Given the description of an element on the screen output the (x, y) to click on. 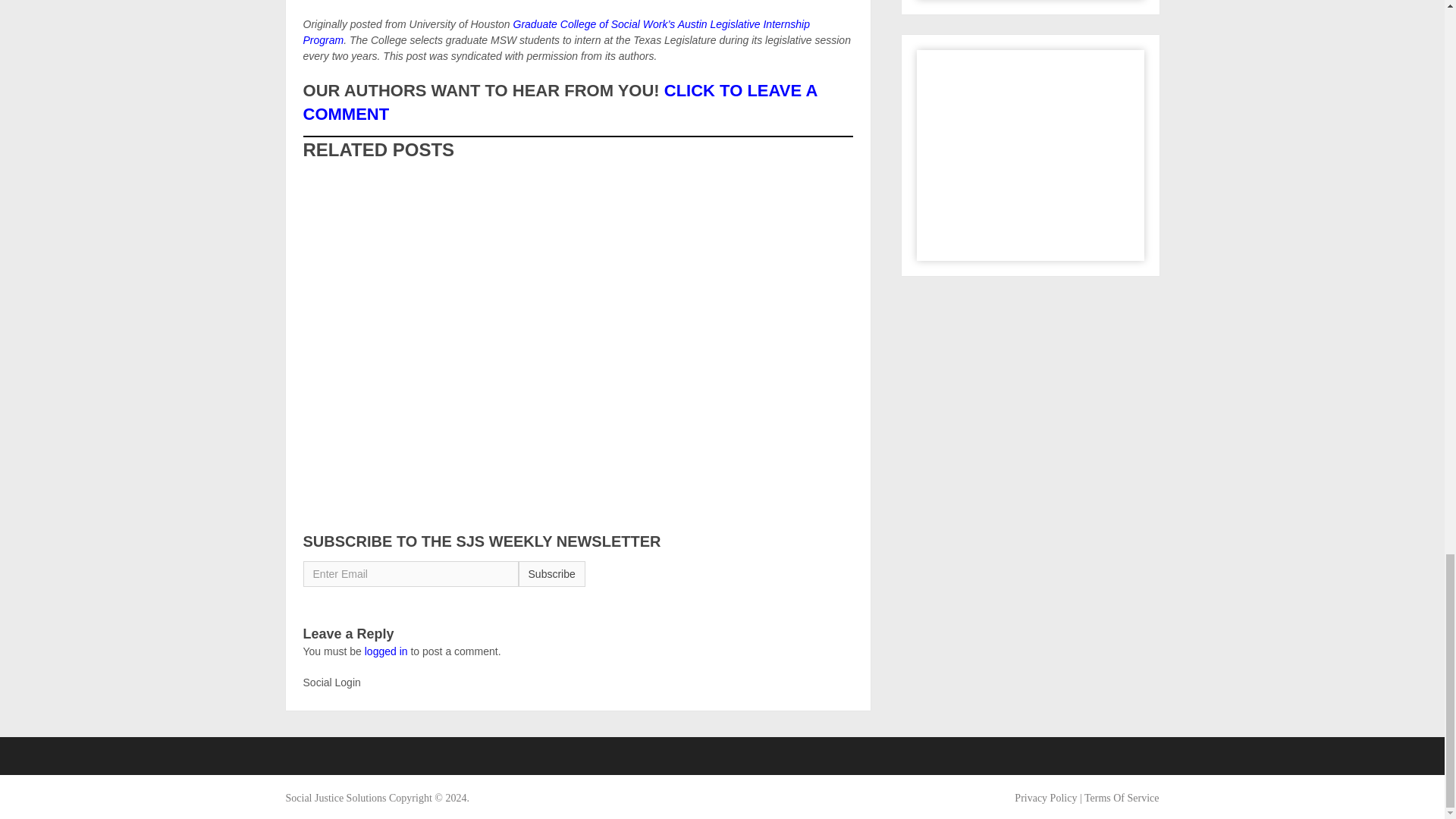
Subscribe (551, 574)
